Given the description of an element on the screen output the (x, y) to click on. 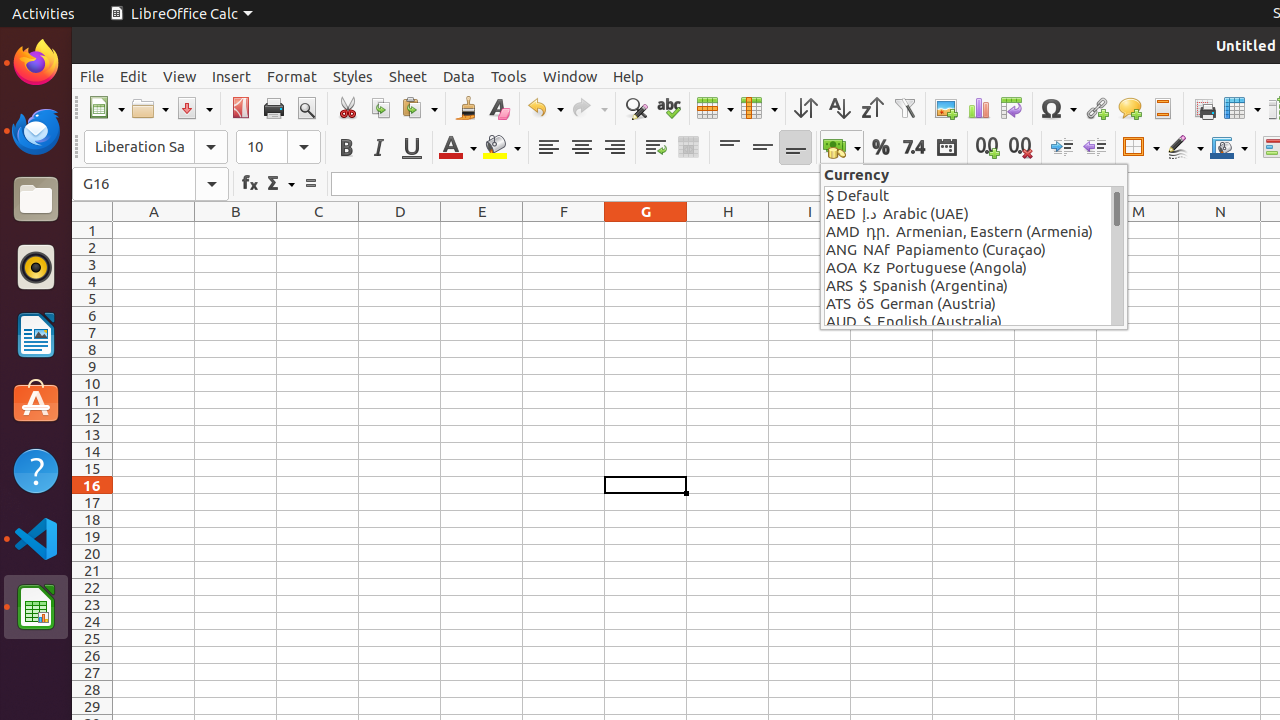
D1 Element type: table-cell (400, 230)
